Given the description of an element on the screen output the (x, y) to click on. 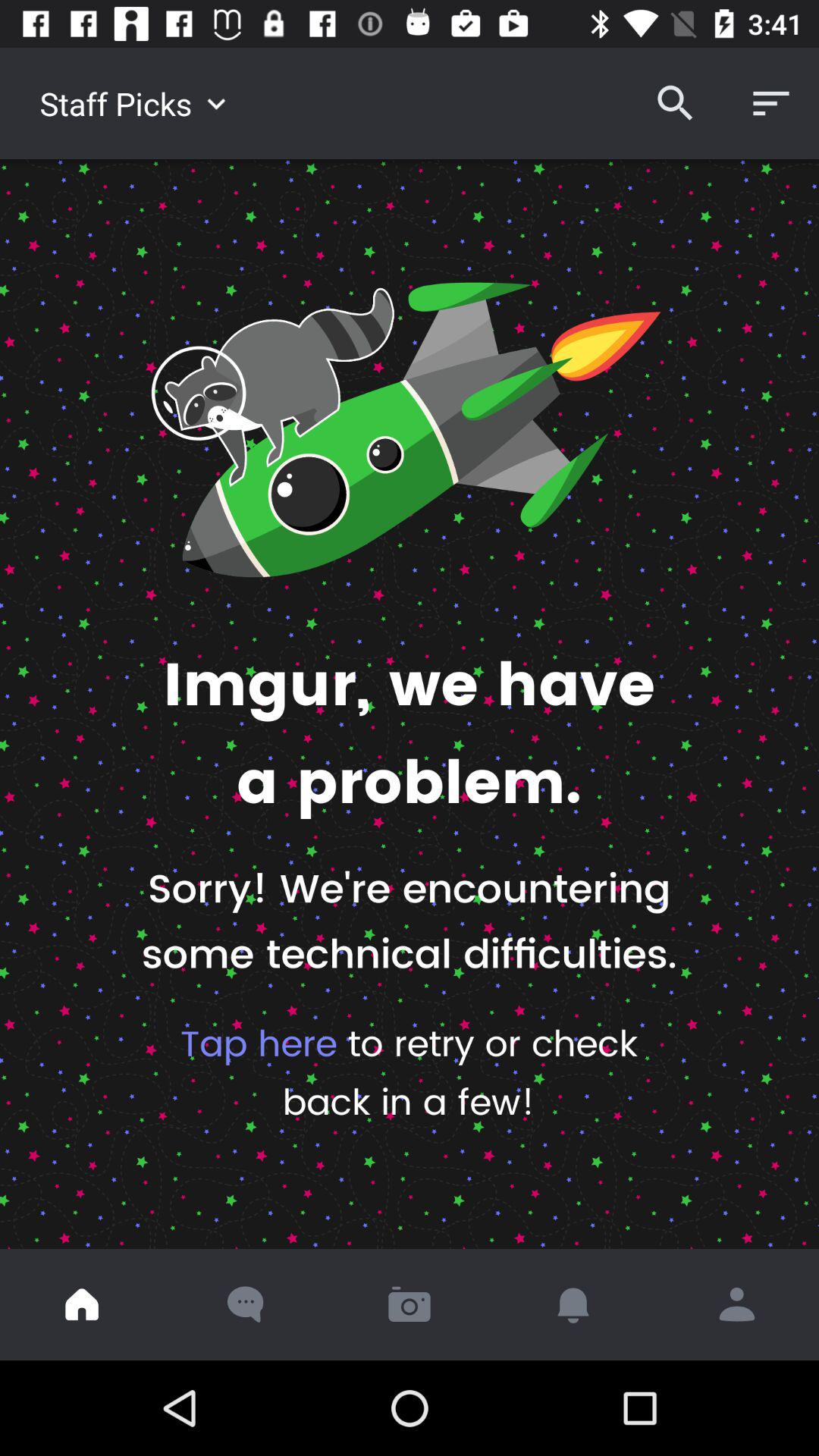
friends button (737, 1304)
